Given the description of an element on the screen output the (x, y) to click on. 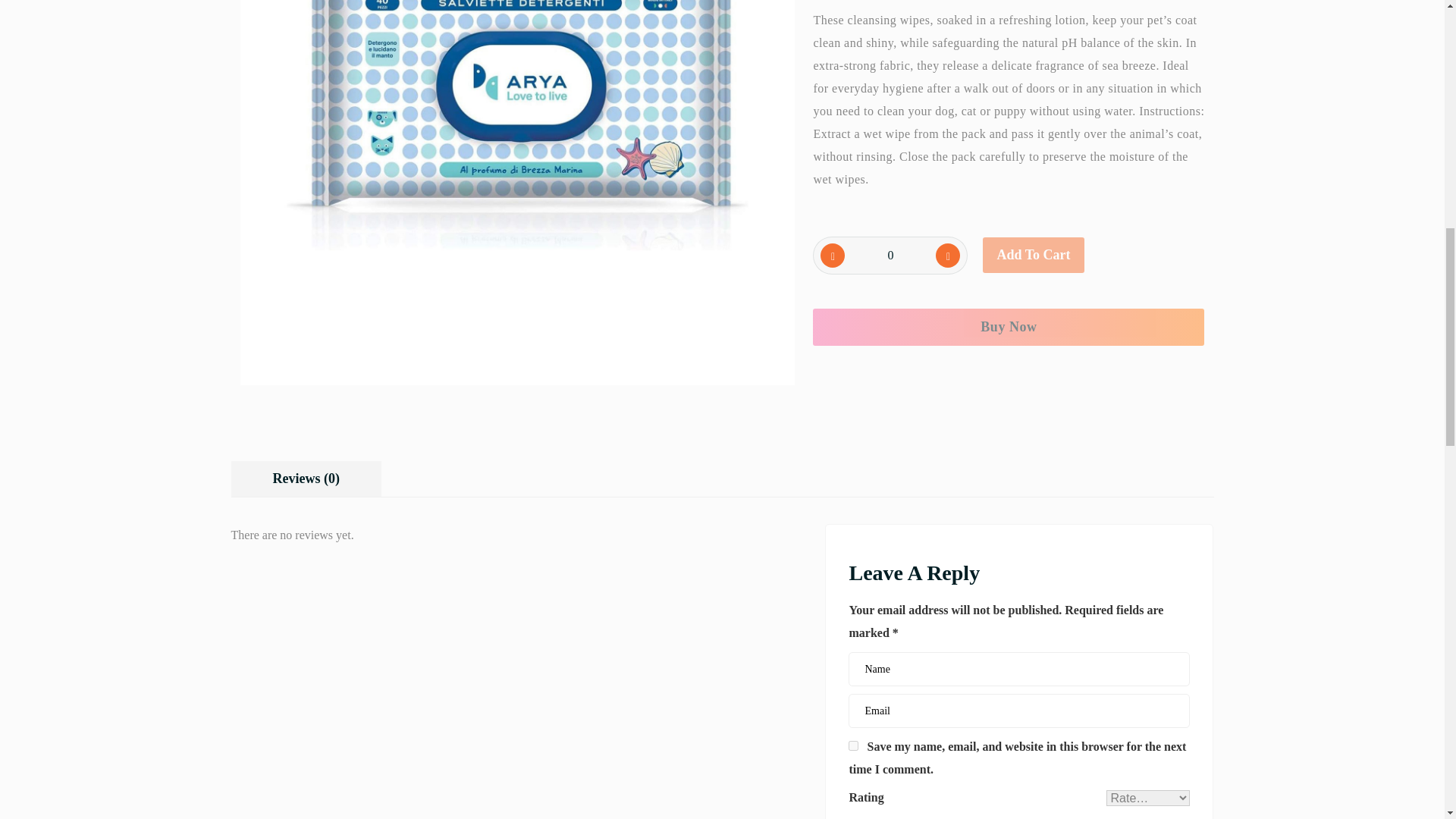
yes (853, 746)
Buy Now (1008, 326)
0 (890, 255)
Add To Cart (1032, 254)
